Given the description of an element on the screen output the (x, y) to click on. 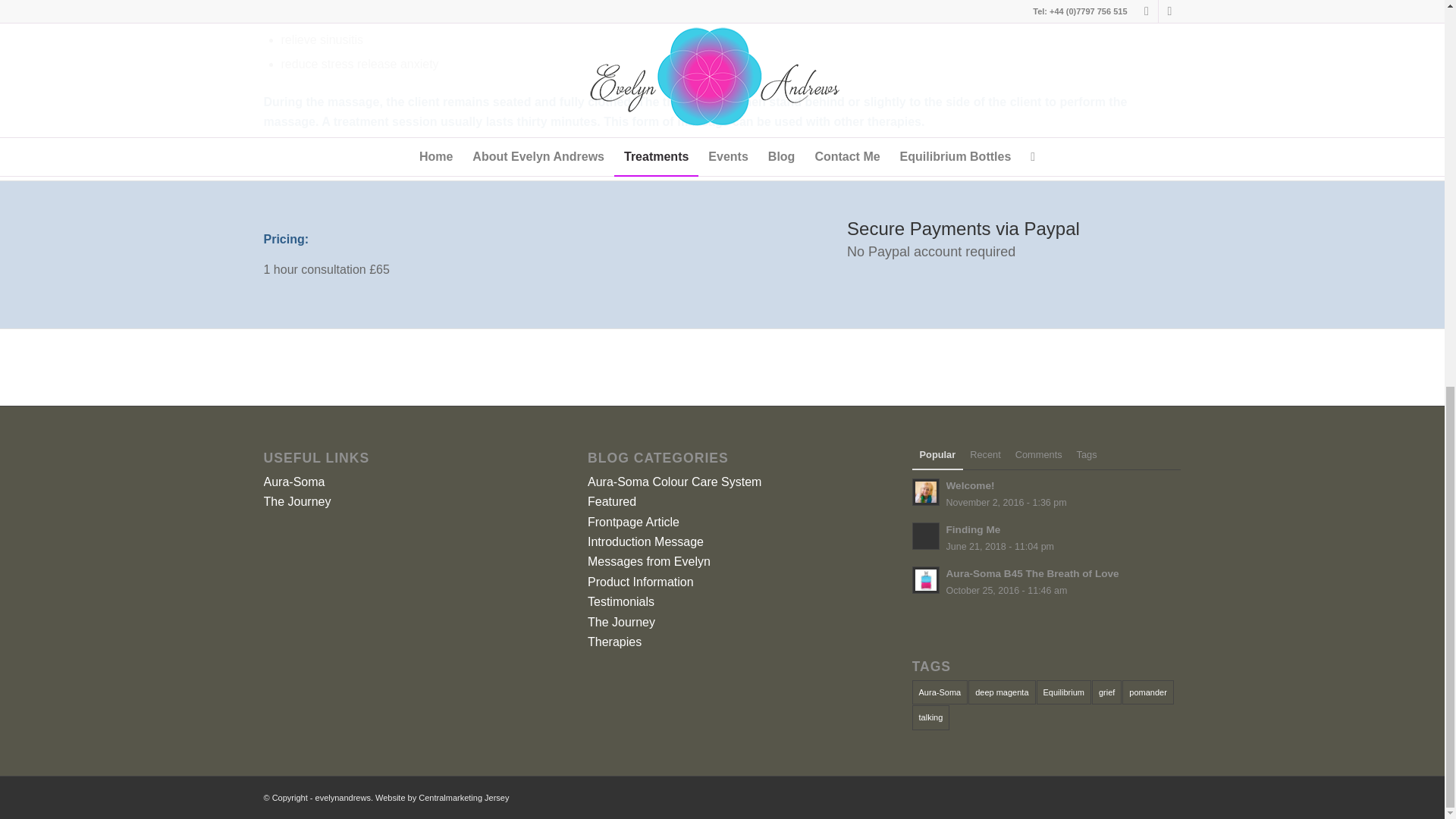
Aura-Soma (293, 481)
Featured (612, 501)
Messages from Evelyn (649, 561)
Welcome! (1046, 537)
Finding Me (1046, 493)
Aura-Soma B45 The Breath of Love (1046, 537)
The Journey (1046, 581)
Product Information (1046, 581)
Therapies (297, 501)
Aura-Soma Colour Care System (641, 581)
Introduction Message (615, 641)
The Journey (674, 481)
